Given the description of an element on the screen output the (x, y) to click on. 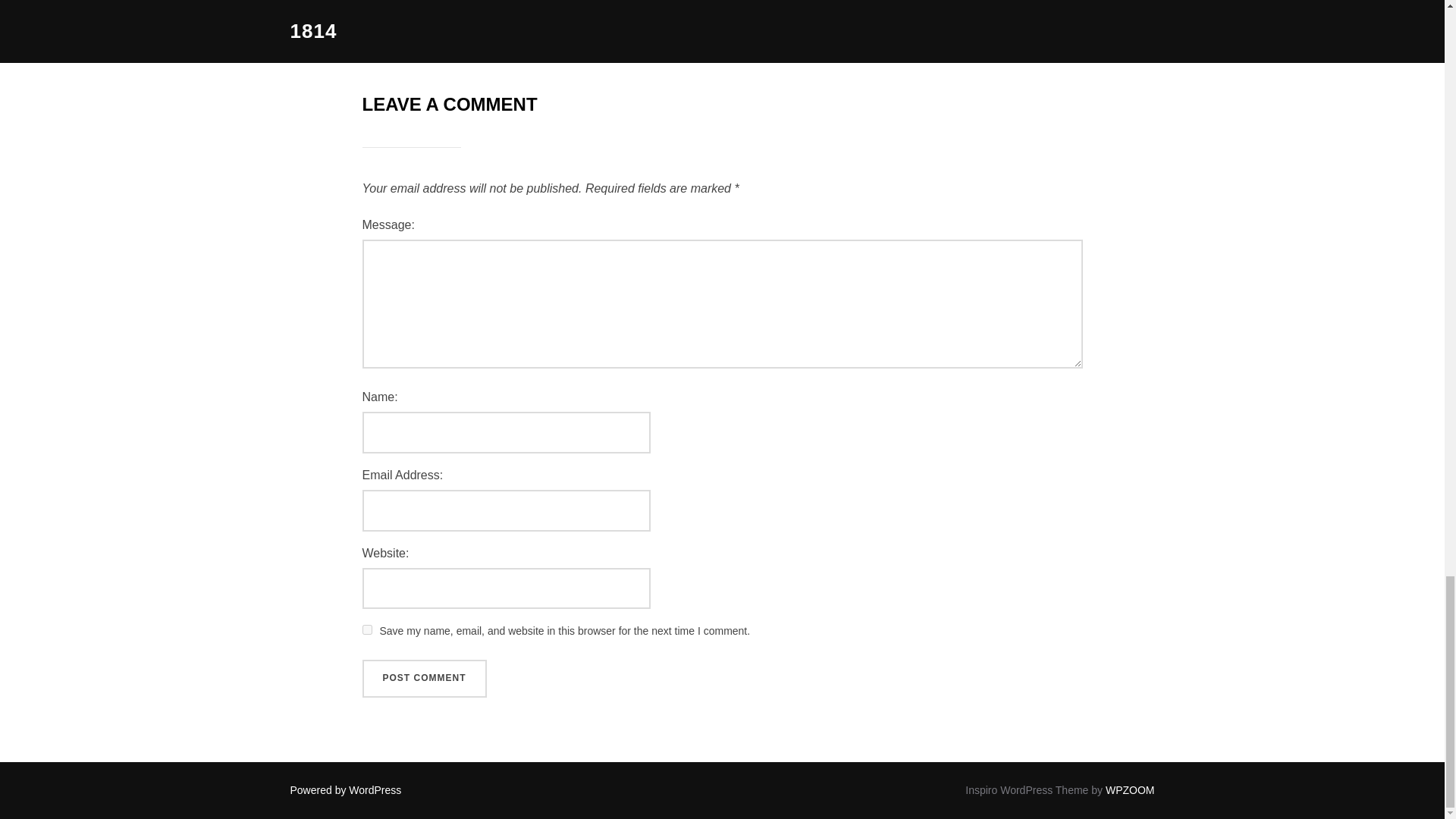
WPZOOM (1129, 789)
Powered by WordPress (345, 789)
Post Comment (424, 678)
Post Comment (424, 678)
yes (367, 629)
